Given the description of an element on the screen output the (x, y) to click on. 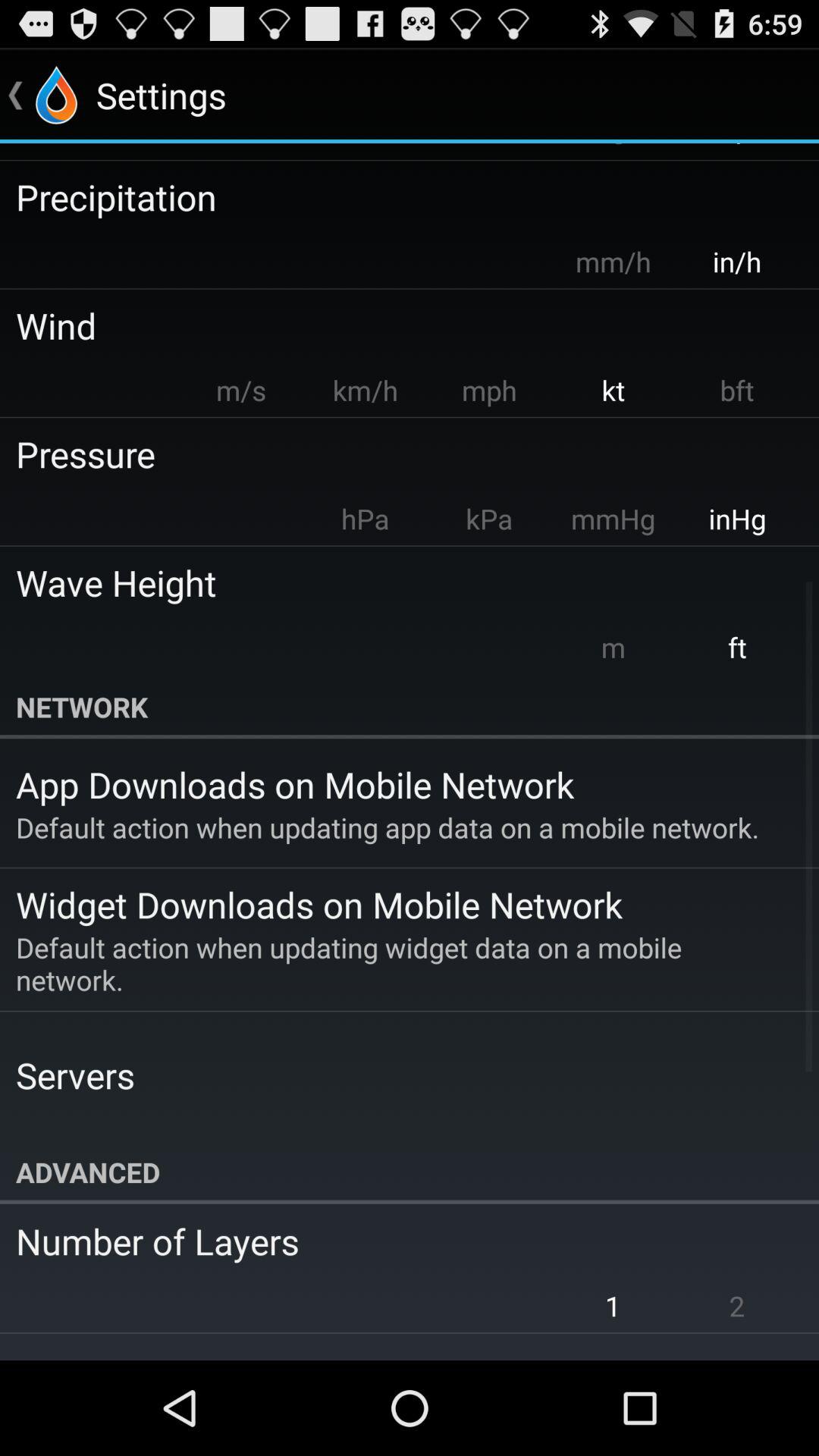
choose item above the m/s (399, 325)
